Given the description of an element on the screen output the (x, y) to click on. 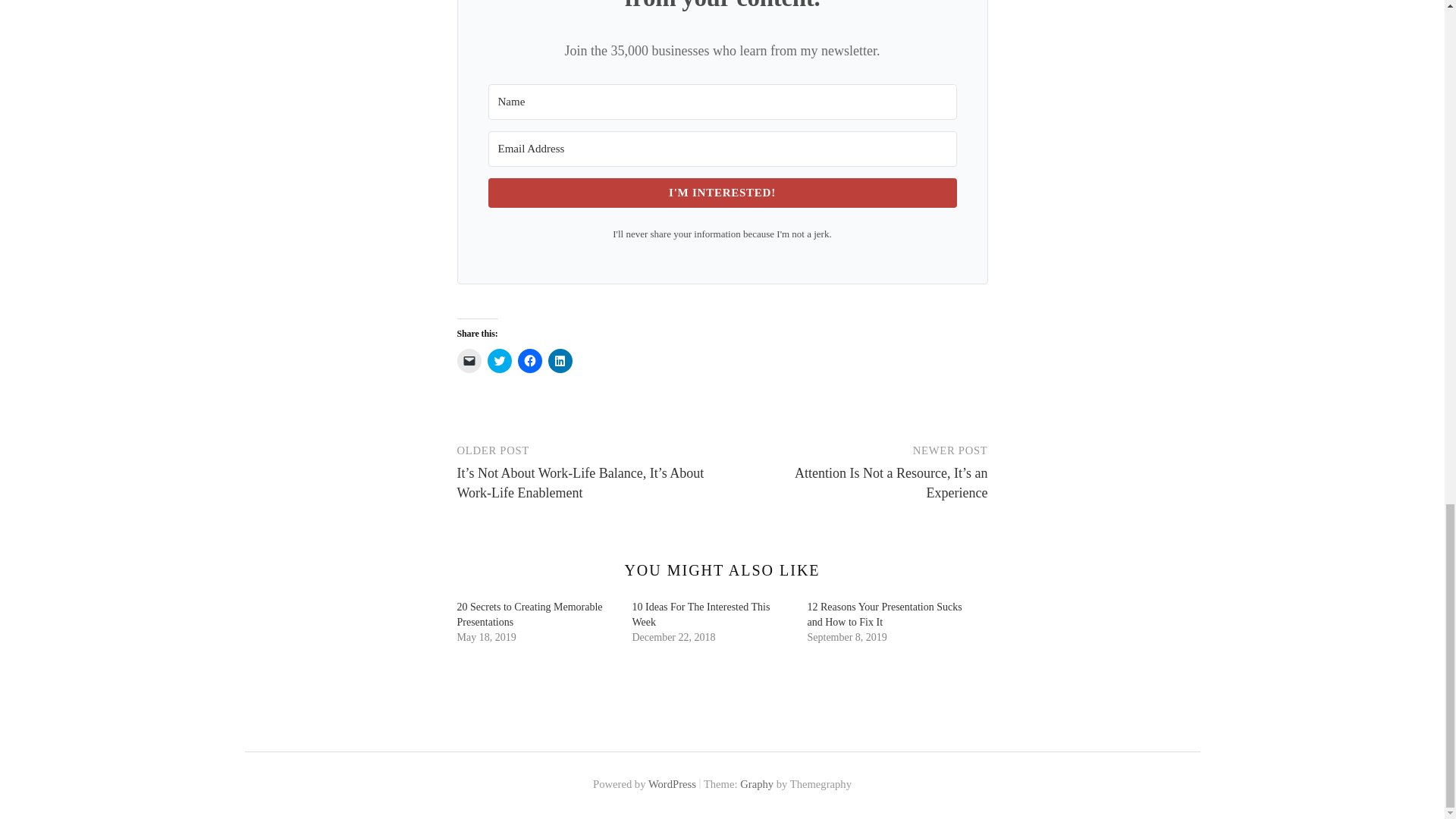
10 Ideas For The Interested This Week (700, 614)
Click to share on Facebook (528, 360)
12 Reasons Your Presentation Sucks and How to Fix It (883, 614)
Click to share on LinkedIn (559, 360)
Click to email a link to a friend (468, 360)
10 Ideas For The Interested This Week (700, 614)
12 Reasons Your Presentation Sucks and How to Fix It (883, 614)
20 Secrets to Creating Memorable Presentations (529, 614)
Click to share on Twitter (498, 360)
WordPress (671, 784)
I'M INTERESTED! (721, 193)
Graphy (756, 784)
20 Secrets to Creating Memorable Presentations (529, 614)
